Given the description of an element on the screen output the (x, y) to click on. 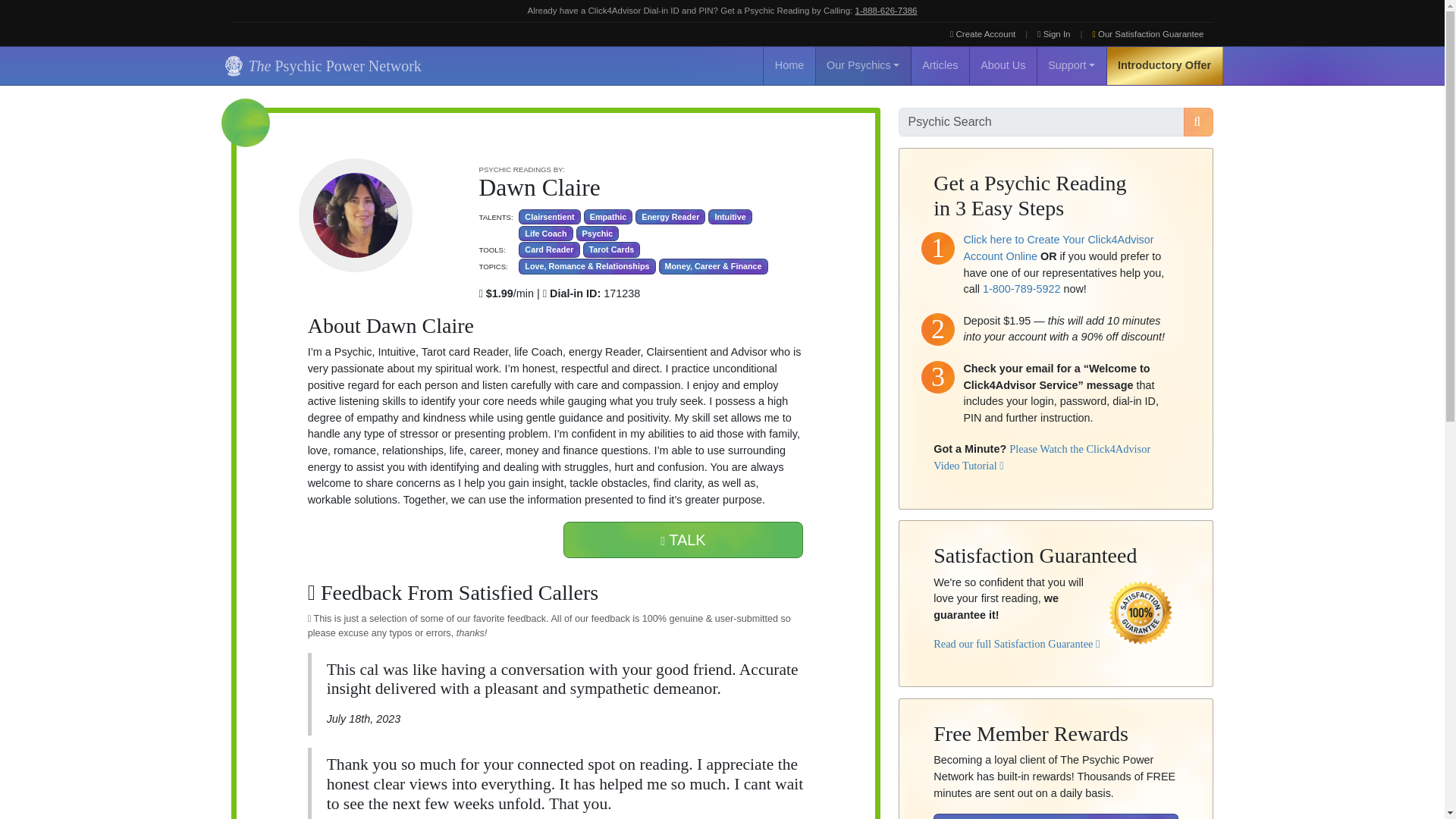
Home (788, 65)
Our Satisfaction Guarantee (1148, 33)
Tarot Cards (611, 249)
The Psychic Power Network (320, 65)
Clairsentient (548, 216)
Intuitive (729, 216)
The Psychic Power Network (320, 65)
Card Reader (548, 249)
Home (788, 65)
Energy Reader (669, 216)
